Given the description of an element on the screen output the (x, y) to click on. 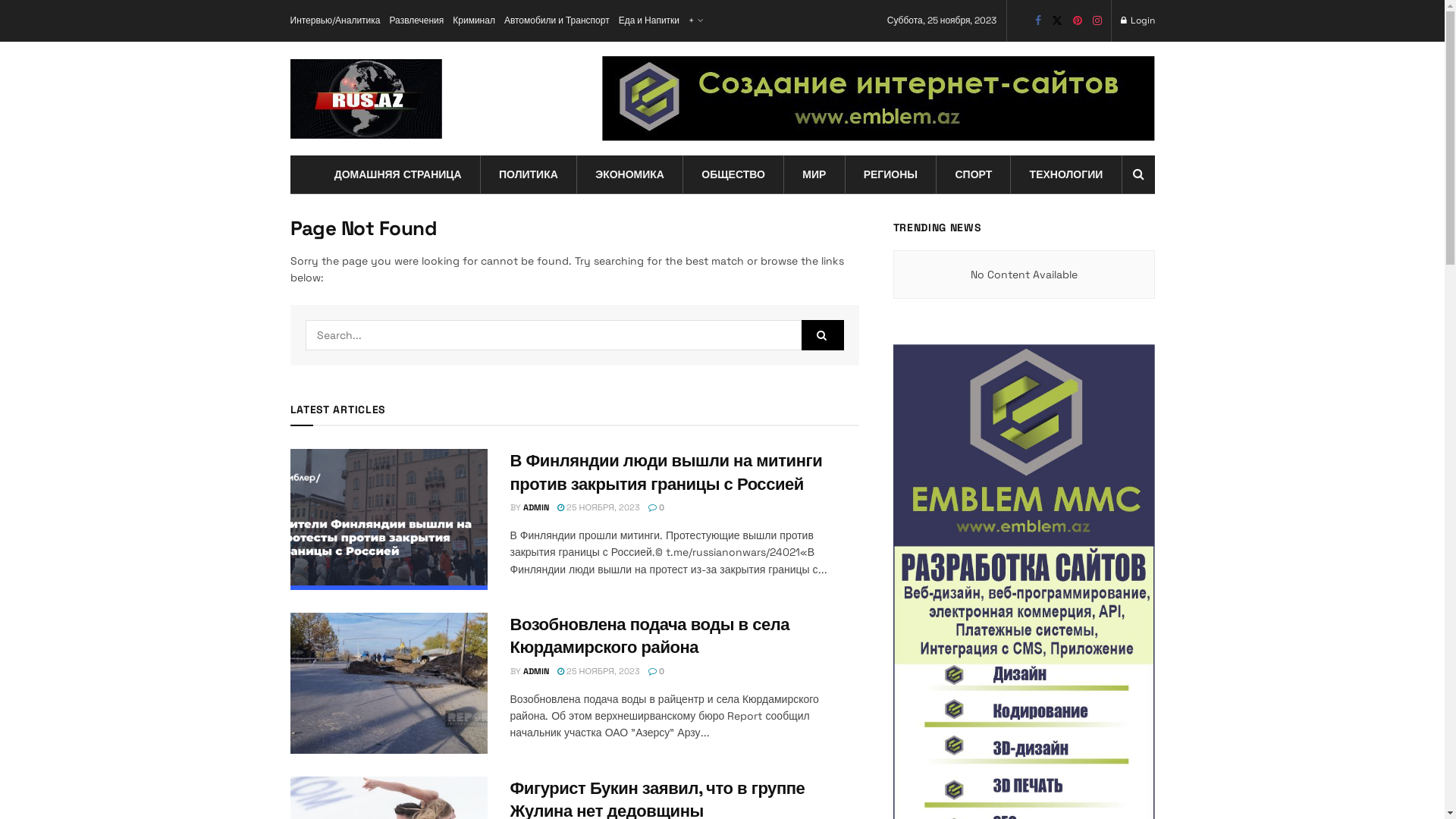
0 Element type: text (656, 670)
ADMIN Element type: text (536, 507)
Login Element type: text (1137, 20)
ADMIN Element type: text (536, 670)
+ Element type: text (694, 20)
0 Element type: text (656, 507)
